Given the description of an element on the screen output the (x, y) to click on. 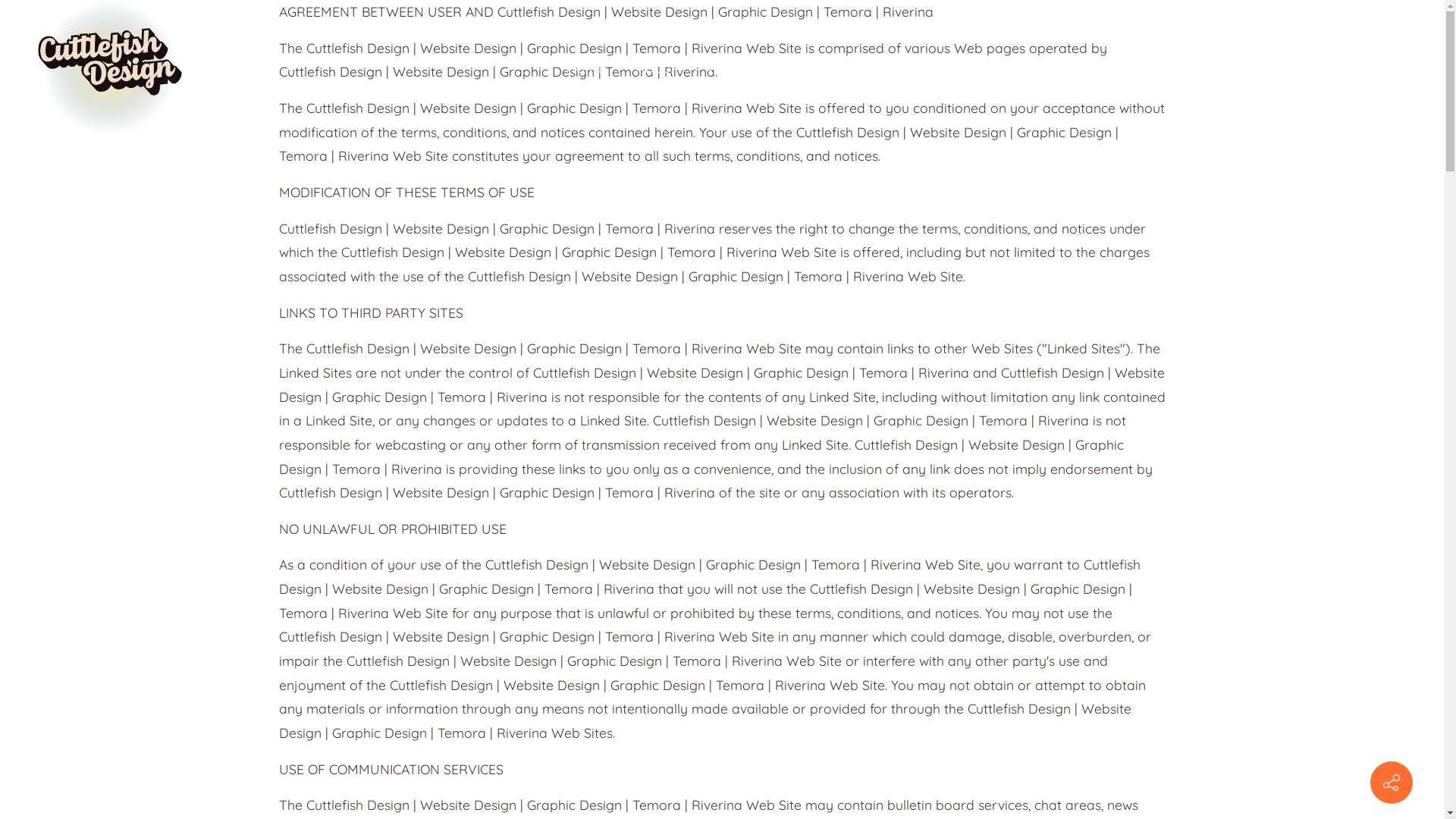
Home Element type: text (585, 68)
Graphic Design Element type: text (897, 68)
Contact Element type: text (1004, 68)
About Element type: text (655, 68)
Website Design Element type: text (760, 68)
